Given the description of an element on the screen output the (x, y) to click on. 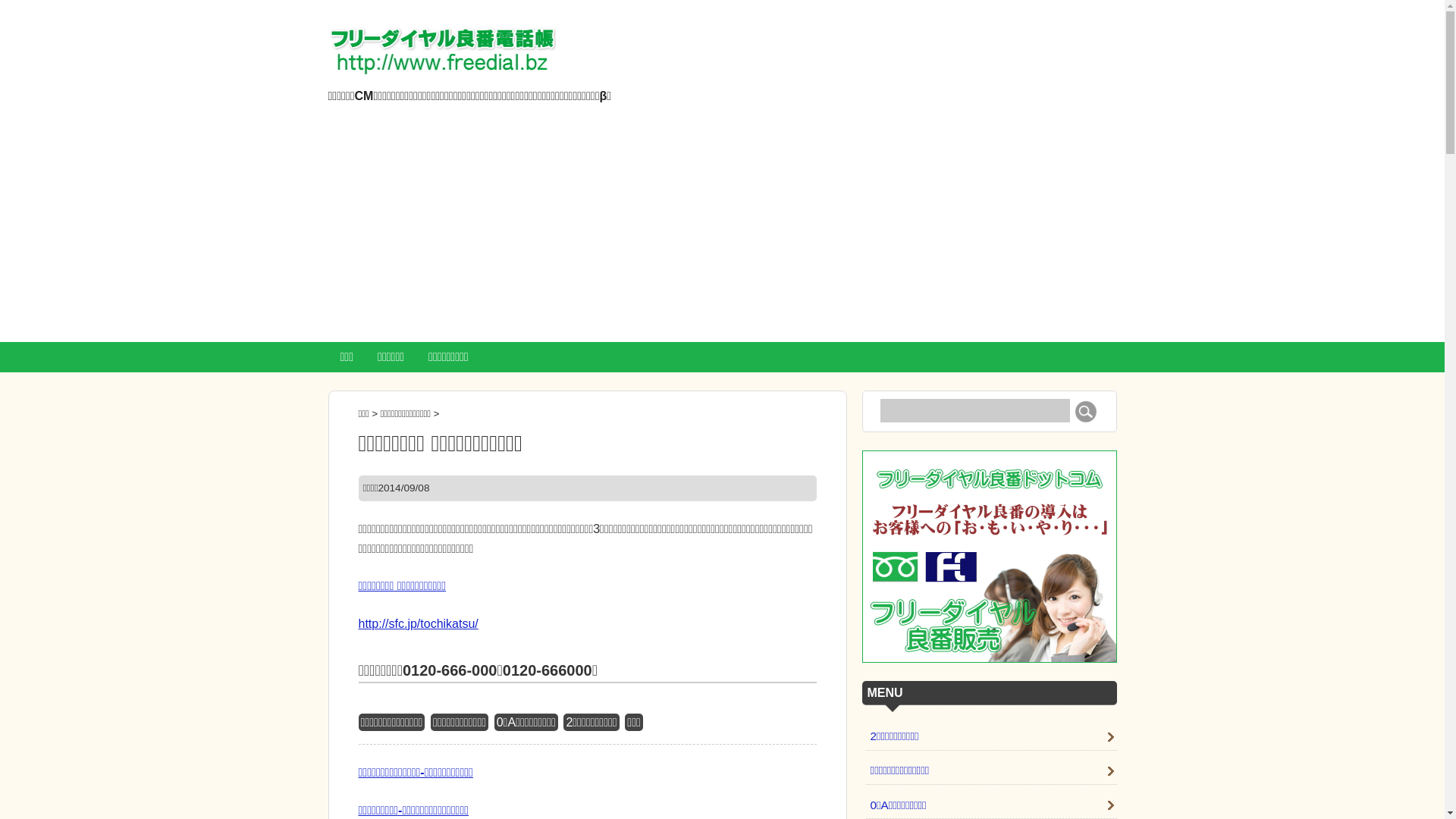
Advertisement Element type: hover (721, 228)
http://sfc.jp/tochikatsu/ Element type: text (417, 623)
